Given the description of an element on the screen output the (x, y) to click on. 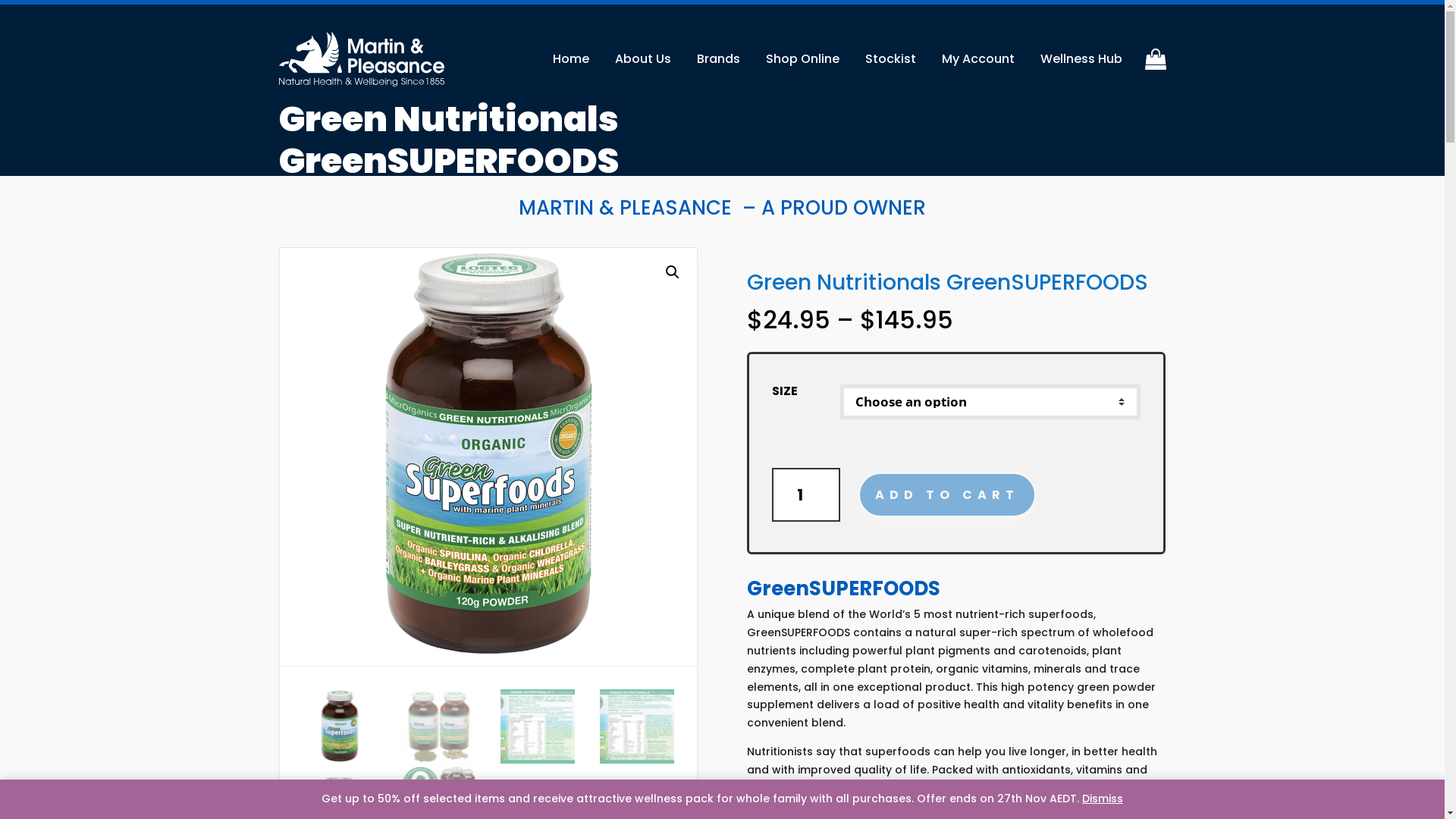
Stockist Element type: text (889, 58)
Qty Element type: hover (805, 494)
Shop Online Element type: text (802, 58)
Dismiss Element type: text (1102, 798)
Green Superfoods 120g pwdr 1024x1024px Element type: hover (487, 456)
About Us Element type: text (642, 58)
My Account Element type: text (977, 58)
Brands Element type: text (717, 58)
GreenSuperfoods Range image 1000x1000px Element type: hover (905, 456)
Home Element type: text (570, 58)
Search Element type: text (1131, 135)
Wellness Hub Element type: text (1081, 58)
ADD TO CART Element type: text (946, 494)
